Given the description of an element on the screen output the (x, y) to click on. 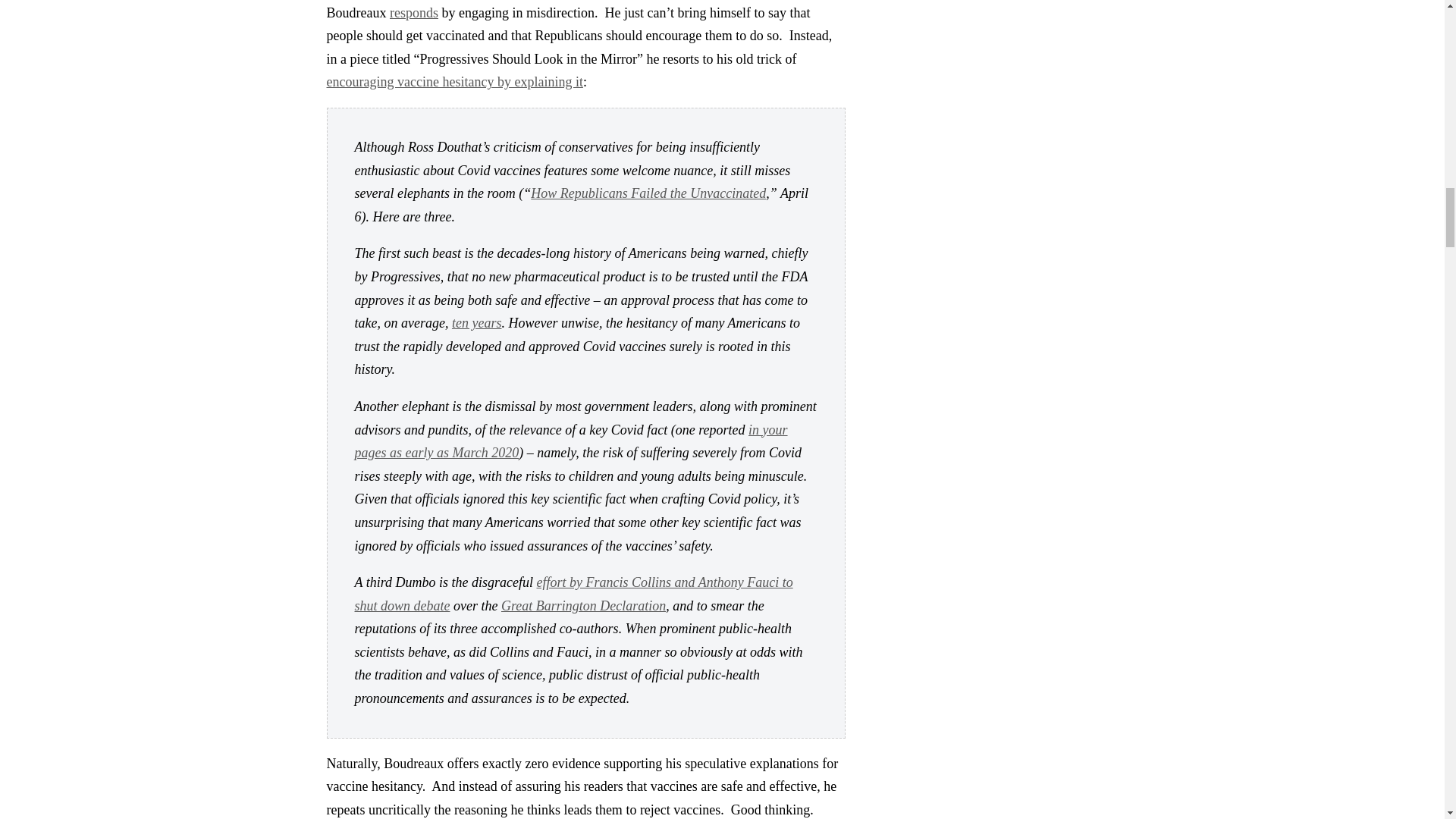
encouraging vaccine hesitancy by explaining it (454, 81)
Great Barrington Declaration (582, 605)
How Republicans Failed the Unvaccinated (648, 192)
in your pages as early as March 2020 (571, 441)
ten years (475, 322)
responds (414, 12)
